Given the description of an element on the screen output the (x, y) to click on. 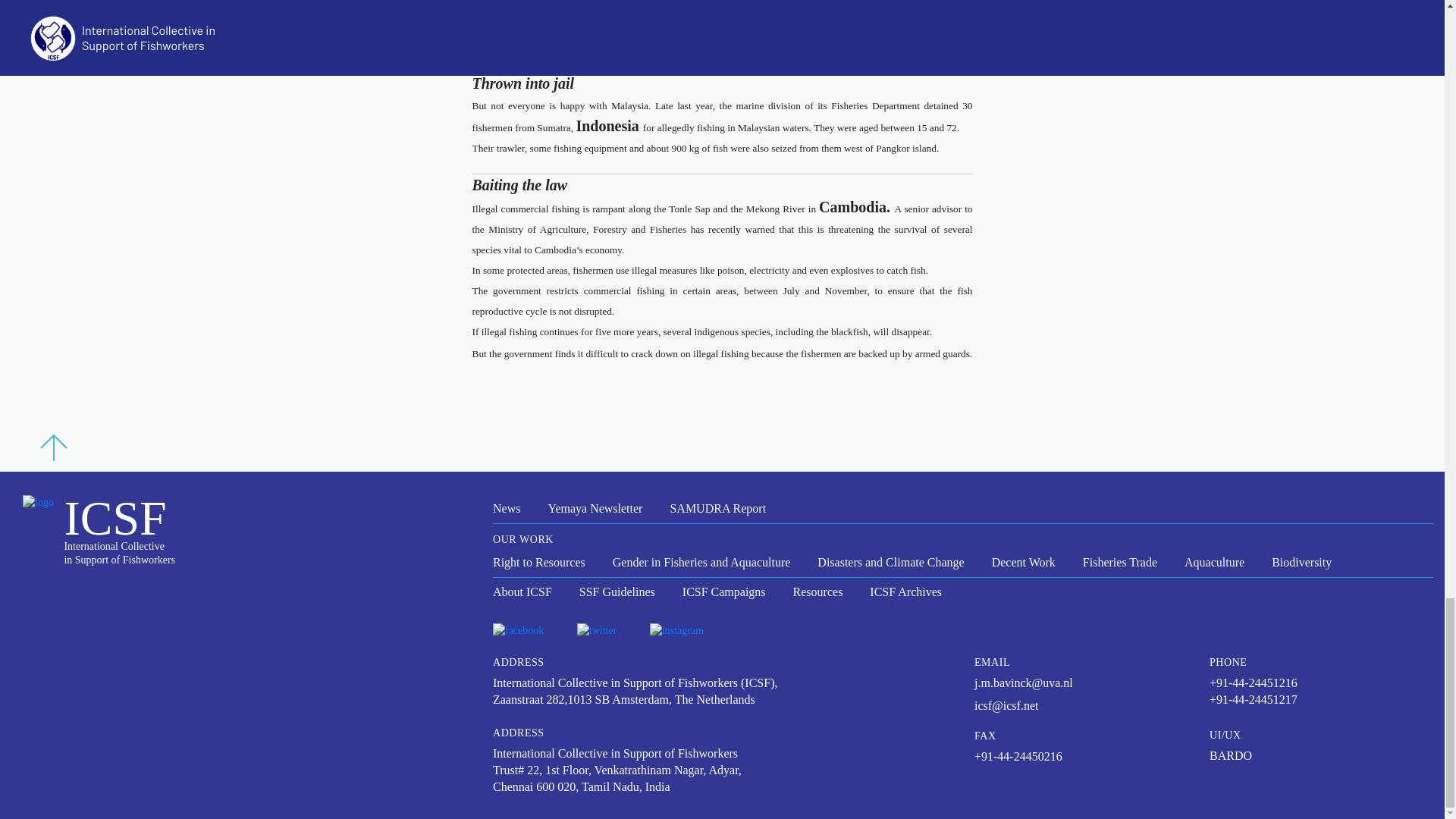
BARDO (1230, 755)
Biodiversity (1301, 562)
Decent Work (1023, 562)
News (506, 508)
Resources (818, 591)
Fisheries Trade (1120, 562)
Gender in Fisheries and Aquaculture (701, 562)
Yemaya Newsletter (594, 508)
Right to Resources (539, 562)
Disasters and Climate Change (889, 562)
